Given the description of an element on the screen output the (x, y) to click on. 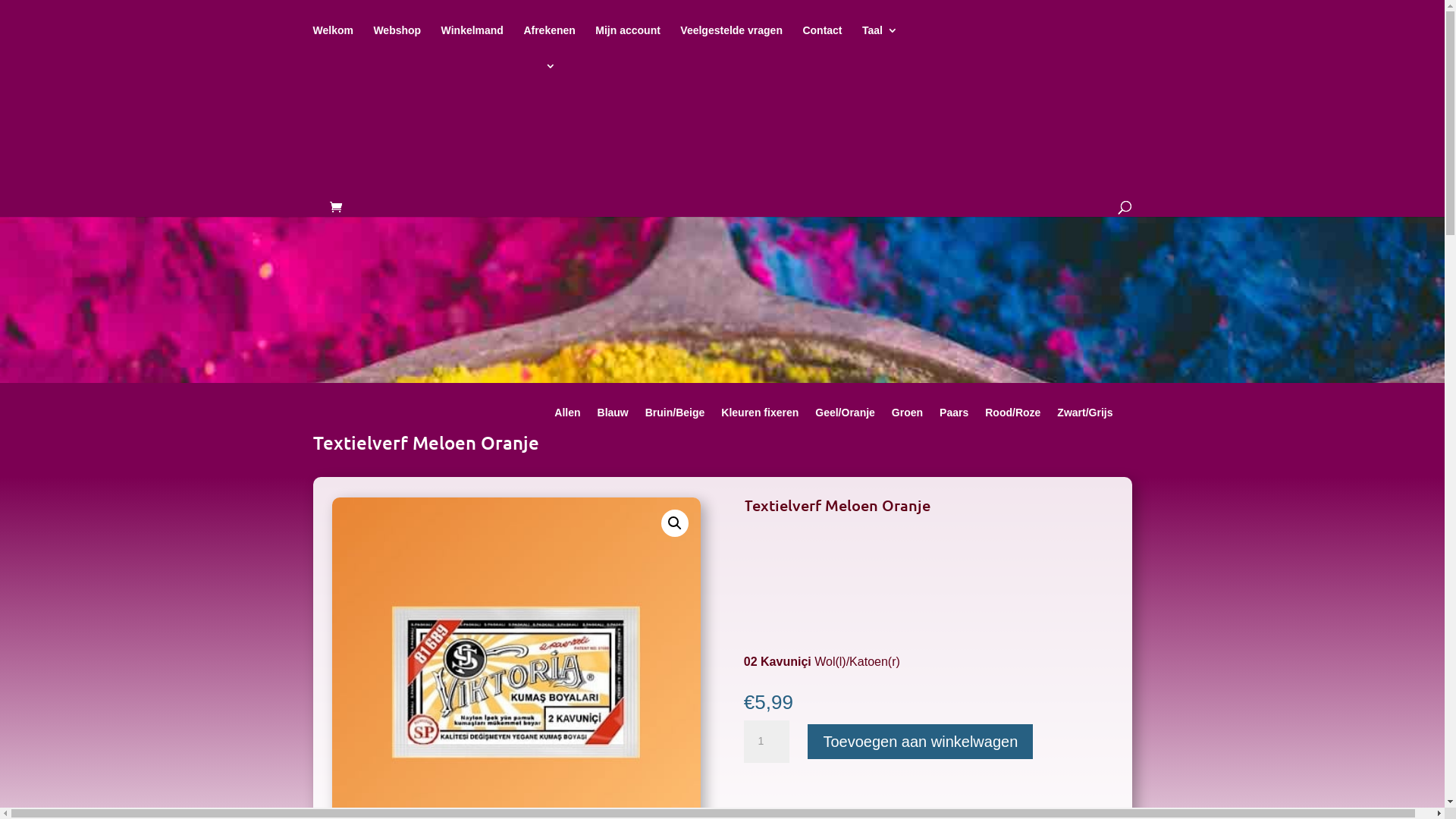
Veelgestelde vragen Element type: text (731, 42)
Toevoegen aan winkelwagen Element type: text (919, 741)
Rood/Roze Element type: text (1012, 415)
Webshop Element type: text (396, 42)
Aybel Textielverf rishi-W55xcOxI-Ig-unsplash Element type: hover (722, 342)
Groen Element type: text (906, 415)
Zwart/Grijs Element type: text (1084, 415)
Welkom Element type: text (332, 42)
Paars Element type: text (953, 415)
Taal Element type: text (879, 42)
Mijn account Element type: text (627, 42)
Geel/Oranje Element type: text (845, 415)
Allen Element type: text (567, 415)
Contact Element type: text (821, 42)
Afrekenen Element type: text (548, 42)
Winkelmand Element type: text (472, 42)
Kleuren fixeren Element type: text (759, 415)
Blauw Element type: text (612, 415)
Bruin/Beige Element type: text (675, 415)
